Given the description of an element on the screen output the (x, y) to click on. 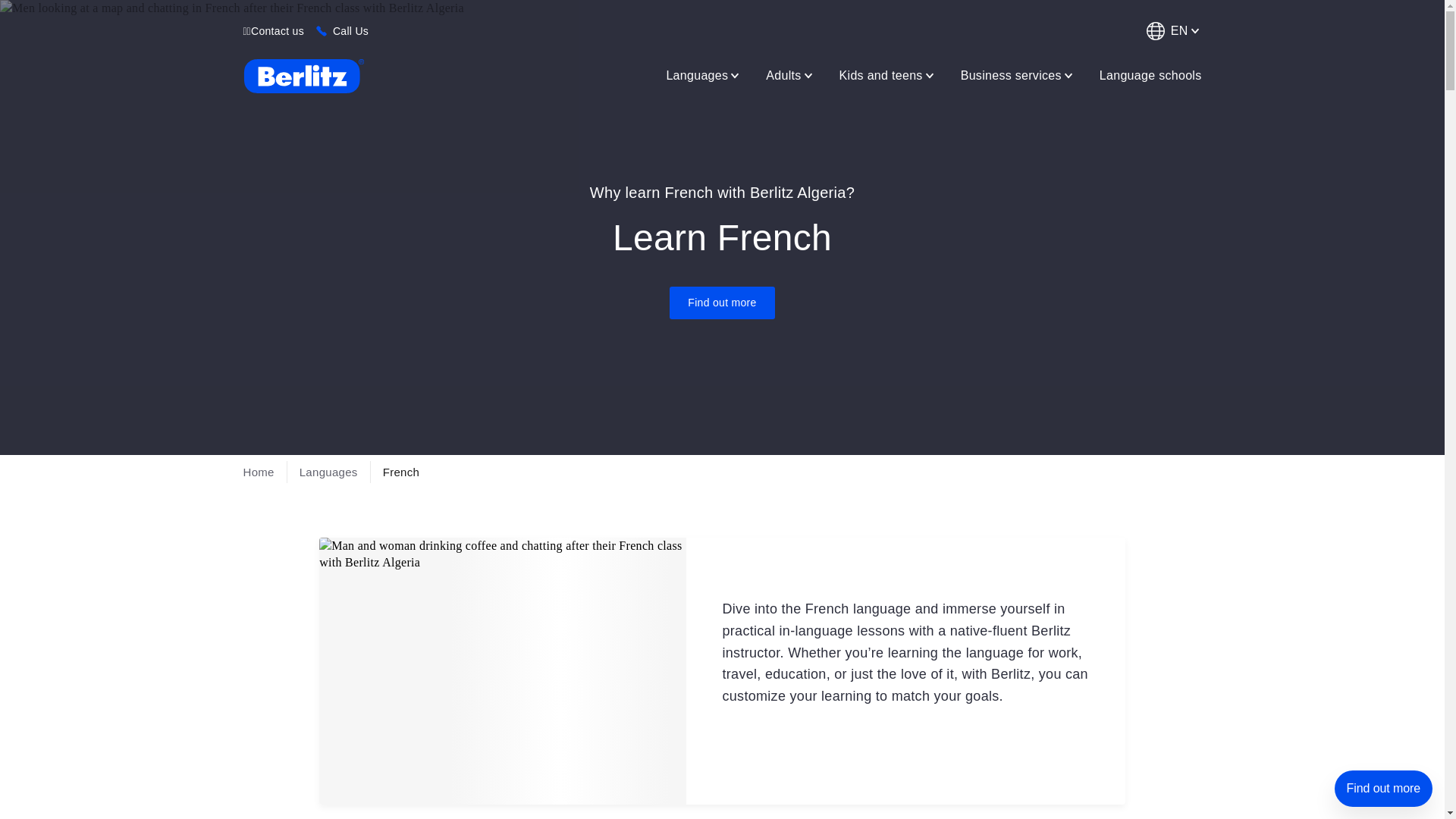
Languages (703, 75)
EN (1171, 30)
Business services (1018, 75)
Adults (790, 75)
Call Us (350, 30)
Berlitz Algeria (302, 76)
Berlitz (303, 75)
Kids and teens (887, 75)
